Given the description of an element on the screen output the (x, y) to click on. 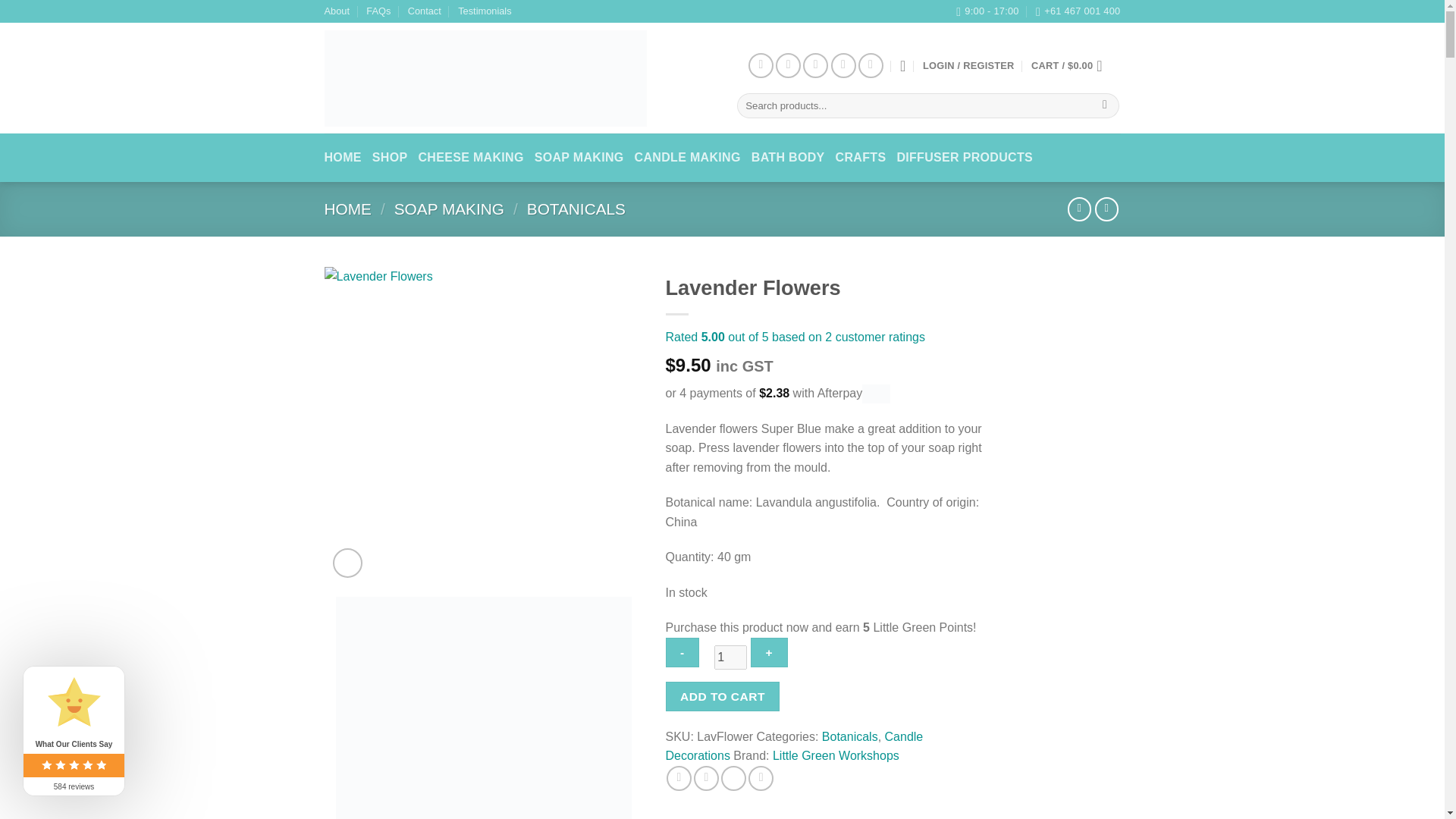
1 (730, 657)
Testimonials (484, 11)
HOME (347, 208)
SOAP MAKING (448, 208)
DIFFUSER PRODUCTS (964, 157)
About (336, 11)
FAQs (378, 11)
- (682, 652)
SOAP MAKING (579, 157)
BOTANICALS (576, 208)
